Given the description of an element on the screen output the (x, y) to click on. 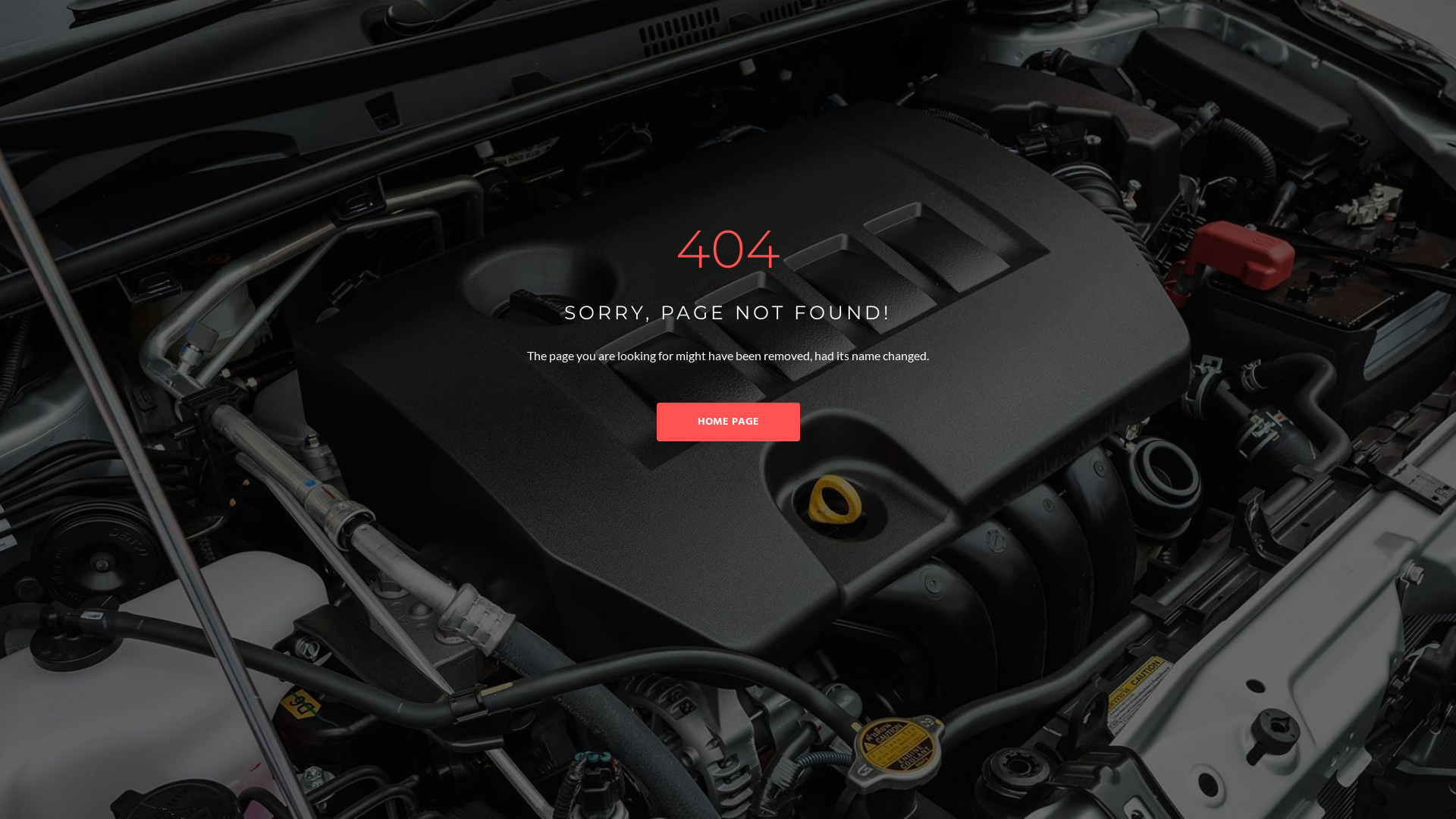
HOME PAGE Element type: text (728, 421)
